Given the description of an element on the screen output the (x, y) to click on. 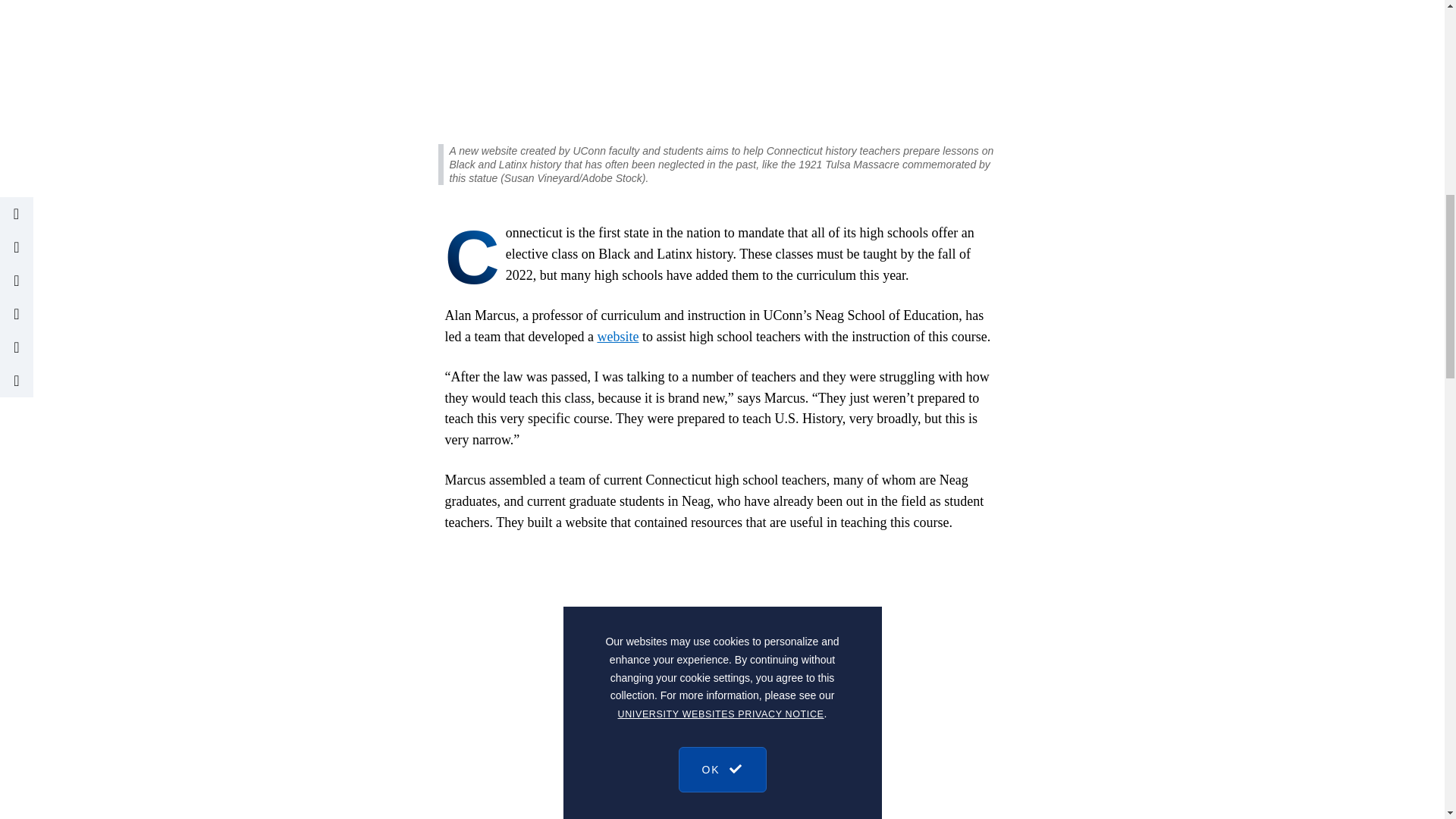
YouTube video player (721, 671)
website (617, 336)
OK (721, 130)
UNIVERSITY WEBSITES PRIVACY NOTICE (720, 82)
